Given the description of an element on the screen output the (x, y) to click on. 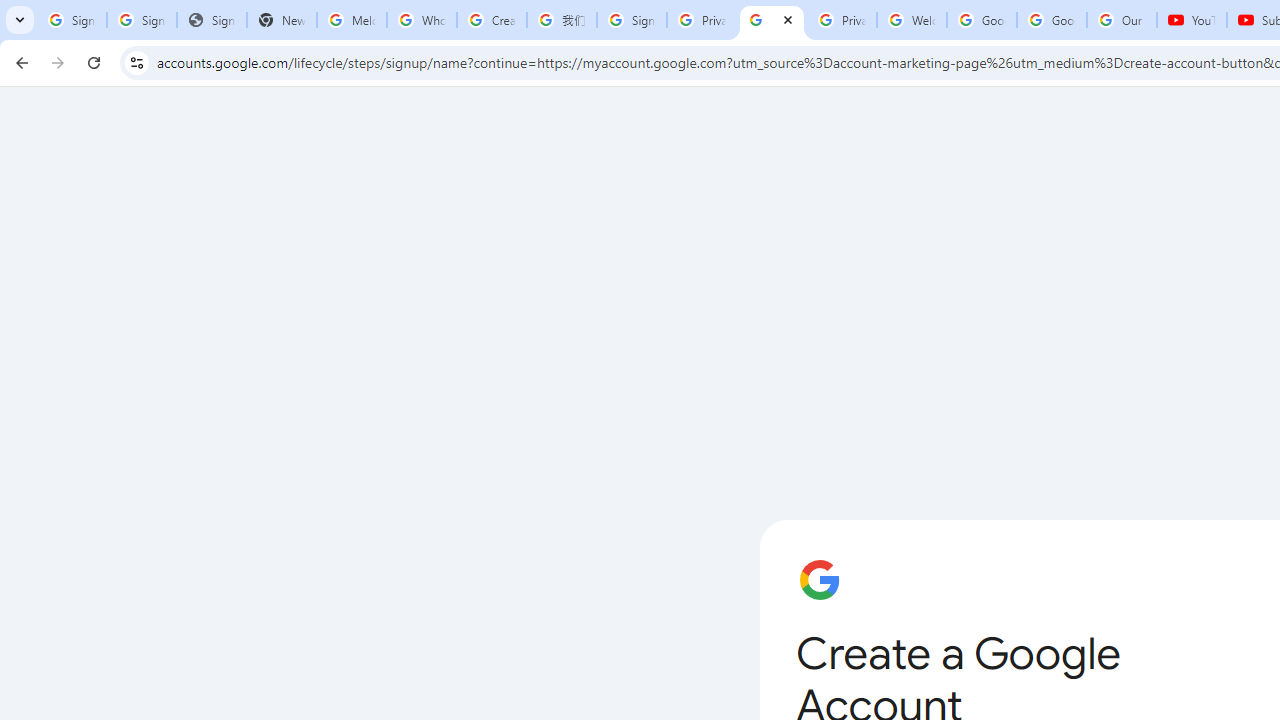
Google Account (1051, 20)
Who is my administrator? - Google Account Help (421, 20)
Create your Google Account (492, 20)
Create your Google Account (772, 20)
YouTube (1192, 20)
